Given the description of an element on the screen output the (x, y) to click on. 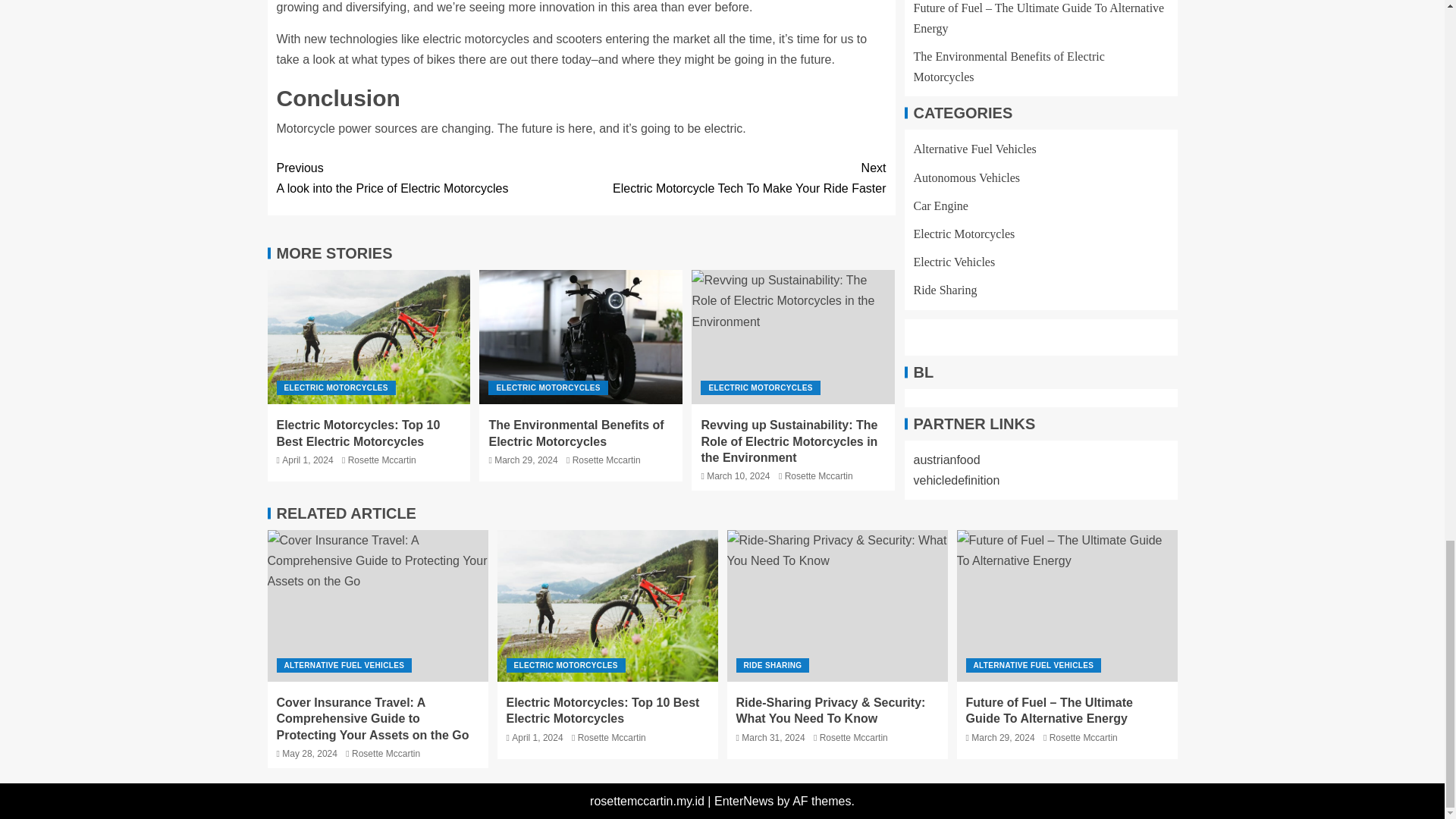
ELECTRIC MOTORCYCLES (428, 178)
Electric Motorcycles: Top 10 Best Electric Motorcycles (547, 387)
ELECTRIC MOTORCYCLES (368, 337)
The Environmental Benefits of Electric Motorcycles (335, 387)
Electric Motorcycles: Top 10 Best Electric Motorcycles (580, 337)
Rosette Mccartin (357, 432)
